Given the description of an element on the screen output the (x, y) to click on. 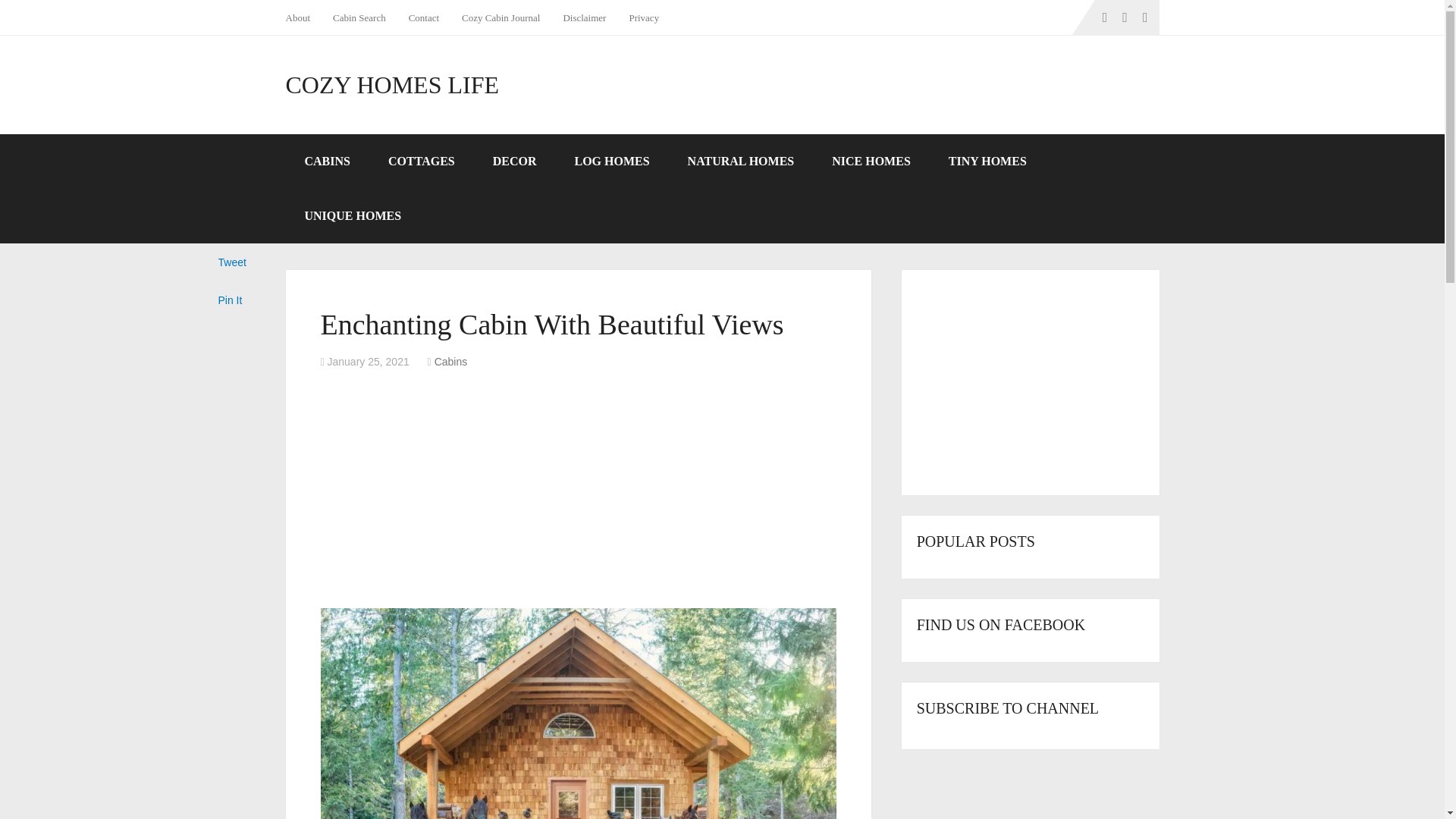
Disclaimer (584, 17)
LOG HOMES (611, 161)
Cozy Cabin Journal (500, 17)
COZY HOMES LIFE (391, 84)
Pin It (230, 300)
Cabin Search (359, 17)
Advertisement (577, 490)
About (303, 17)
UNIQUE HOMES (352, 216)
COTTAGES (421, 161)
